Given the description of an element on the screen output the (x, y) to click on. 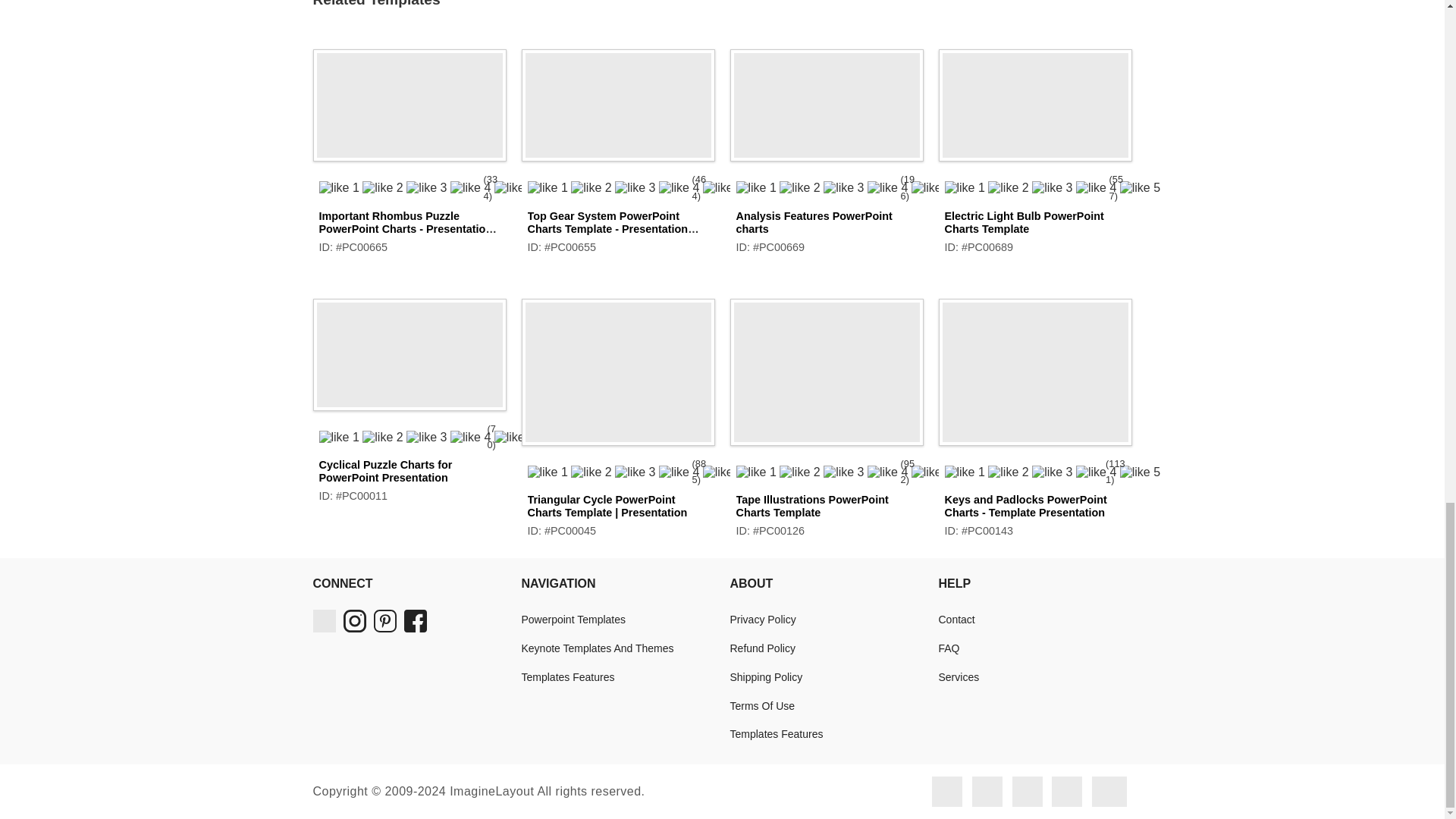
2 out of 5 stars (814, 187)
5 out of 5 stars (397, 187)
Electric Light Bulb PowerPoint Charts Template (1023, 222)
Analysis Features PowerPoint charts (826, 99)
3 out of 5 stars (606, 187)
Analysis Features PowerPoint charts (813, 222)
